Given the description of an element on the screen output the (x, y) to click on. 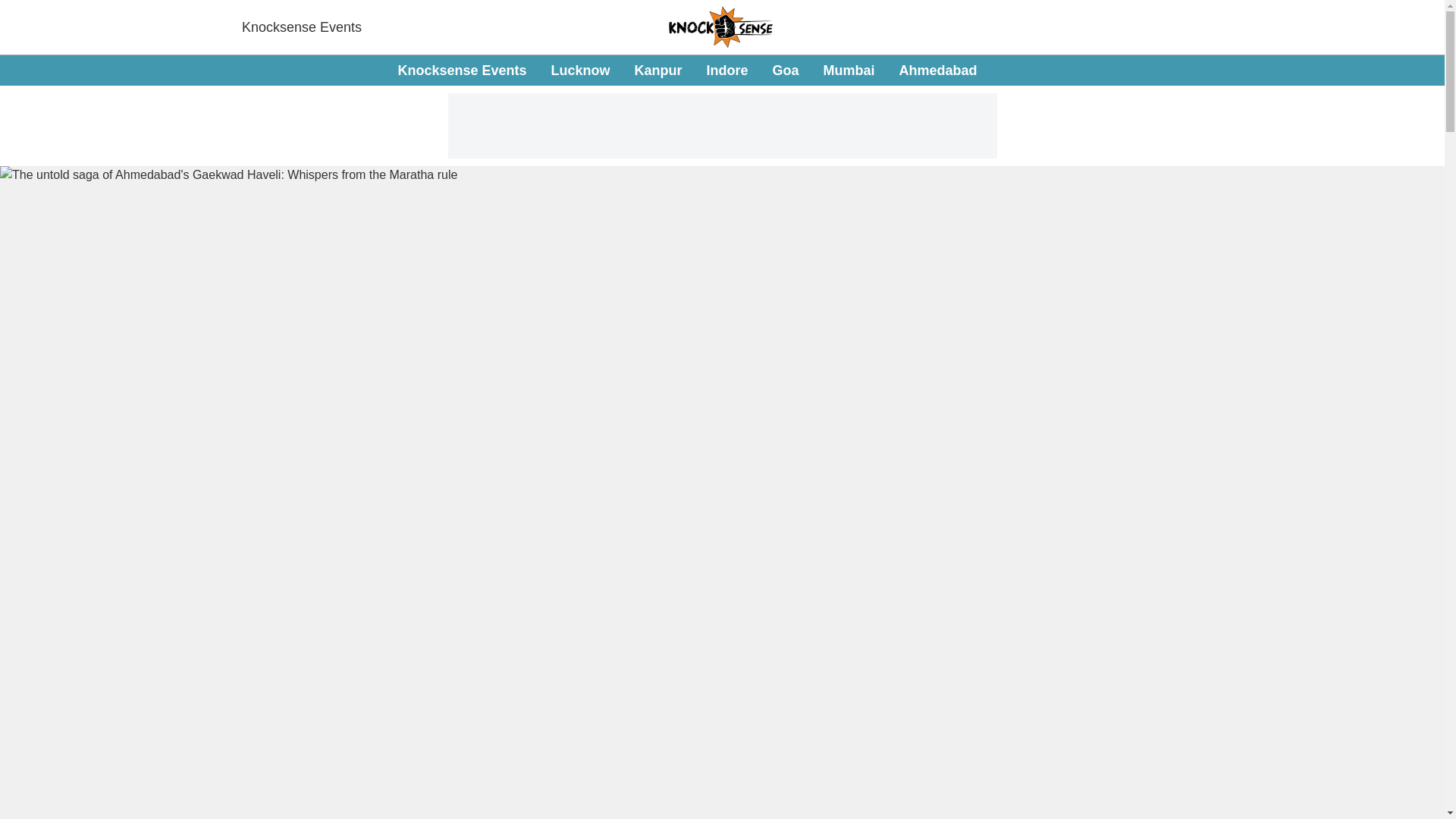
Kanpur (657, 70)
Knocksense Events (461, 70)
Knocksense Events (301, 27)
Ahmedabad (937, 70)
Indore (727, 70)
Lucknow (580, 70)
Dark Mode (686, 70)
Mumbai (1415, 70)
Goa (849, 70)
